Given the description of an element on the screen output the (x, y) to click on. 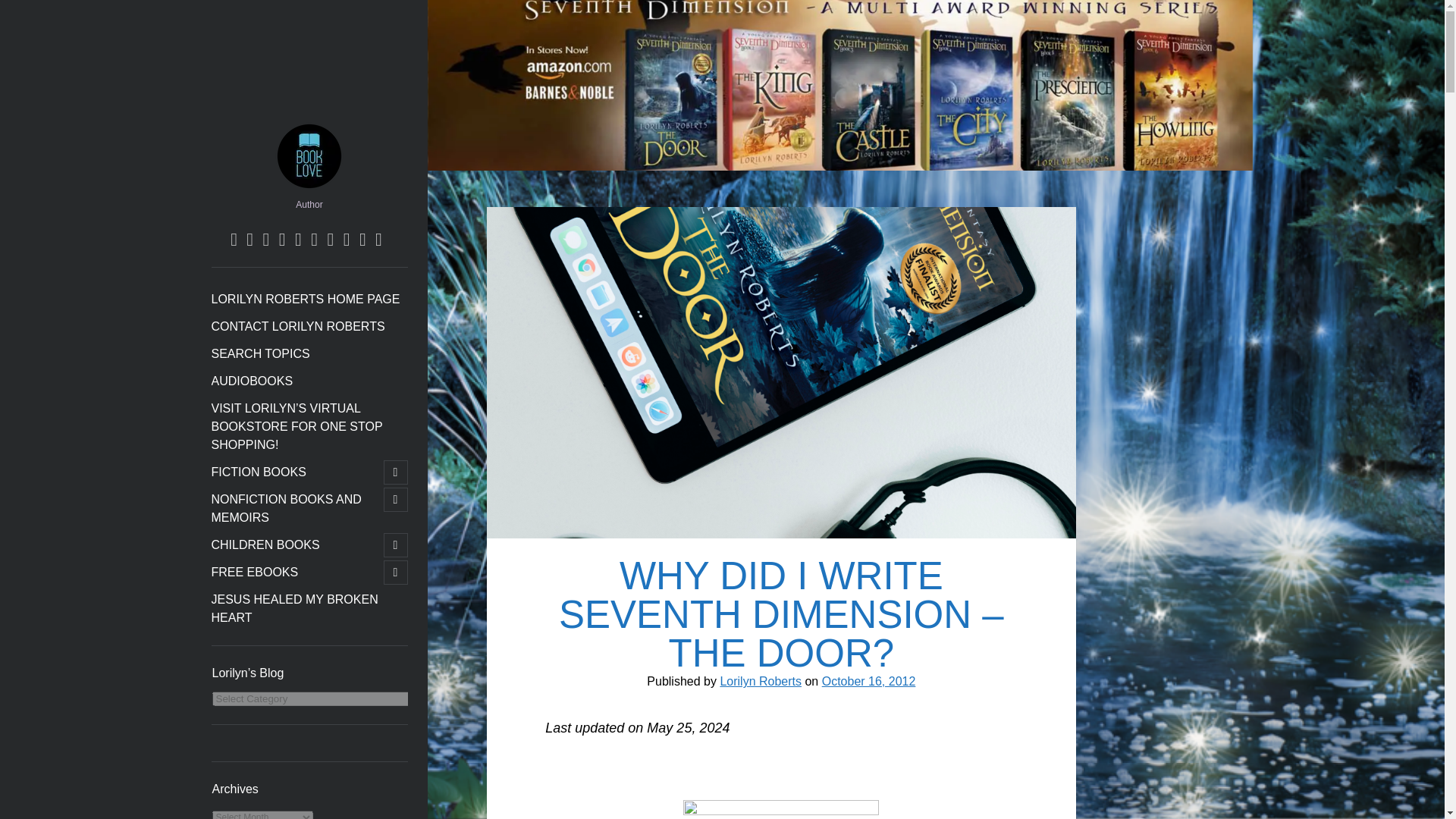
NONFICTION BOOKS AND MEMOIRS (295, 508)
CONTACT LORILYN ROBERTS (297, 326)
FICTION BOOKS (258, 472)
LORILYN ROBERTS HOME PAGE (304, 299)
Lorilyn Roberts (308, 187)
open child menu (395, 499)
AUDIOBOOKS (251, 381)
open child menu (395, 545)
CHILDREN BOOKS (264, 545)
SEARCH TOPICS (259, 353)
